Given the description of an element on the screen output the (x, y) to click on. 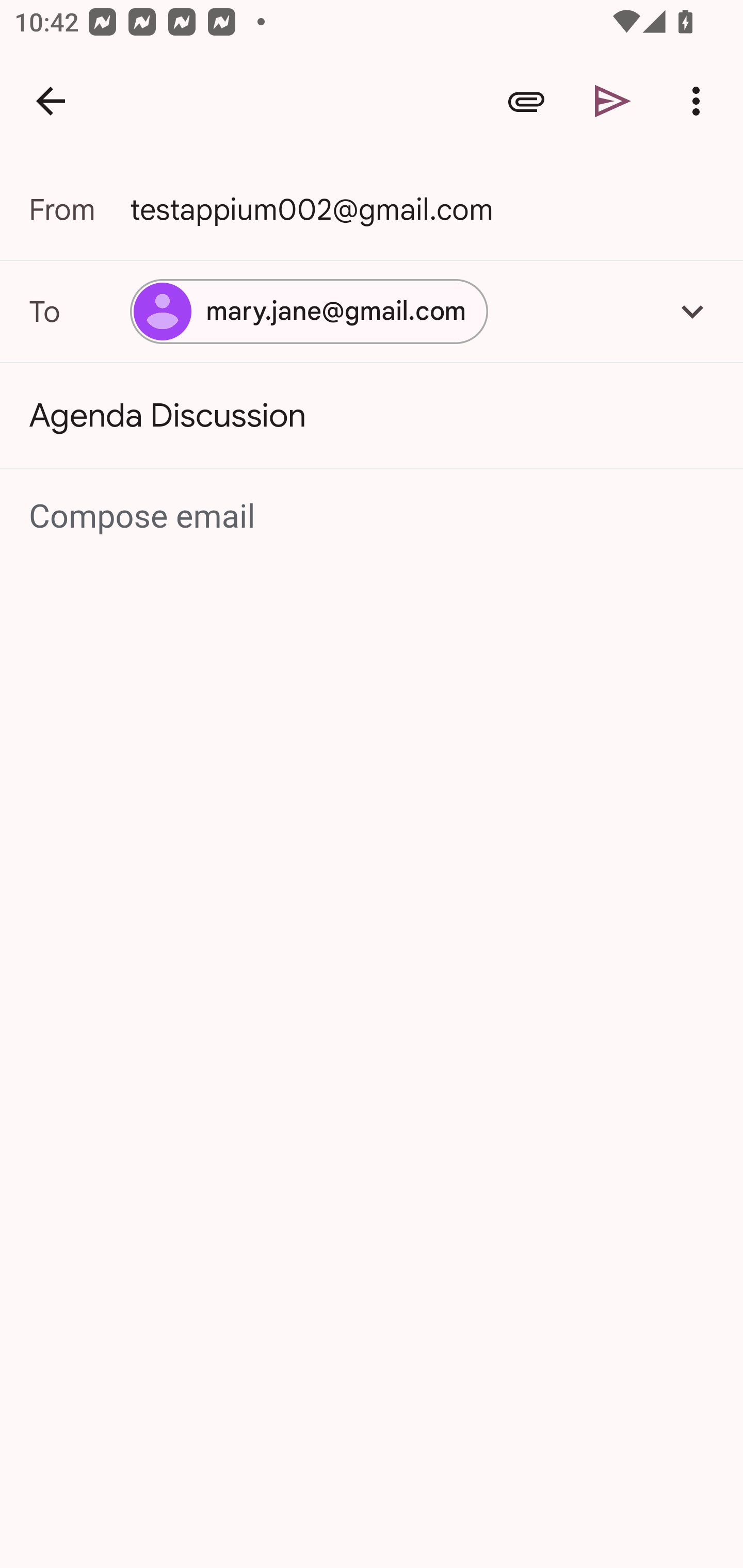
Navigate up (50, 101)
Attach file (525, 101)
Send (612, 101)
More options (699, 101)
From (79, 209)
Add Cc/Bcc (692, 311)
Agenda Discussion (371, 415)
Compose email (372, 517)
